Given the description of an element on the screen output the (x, y) to click on. 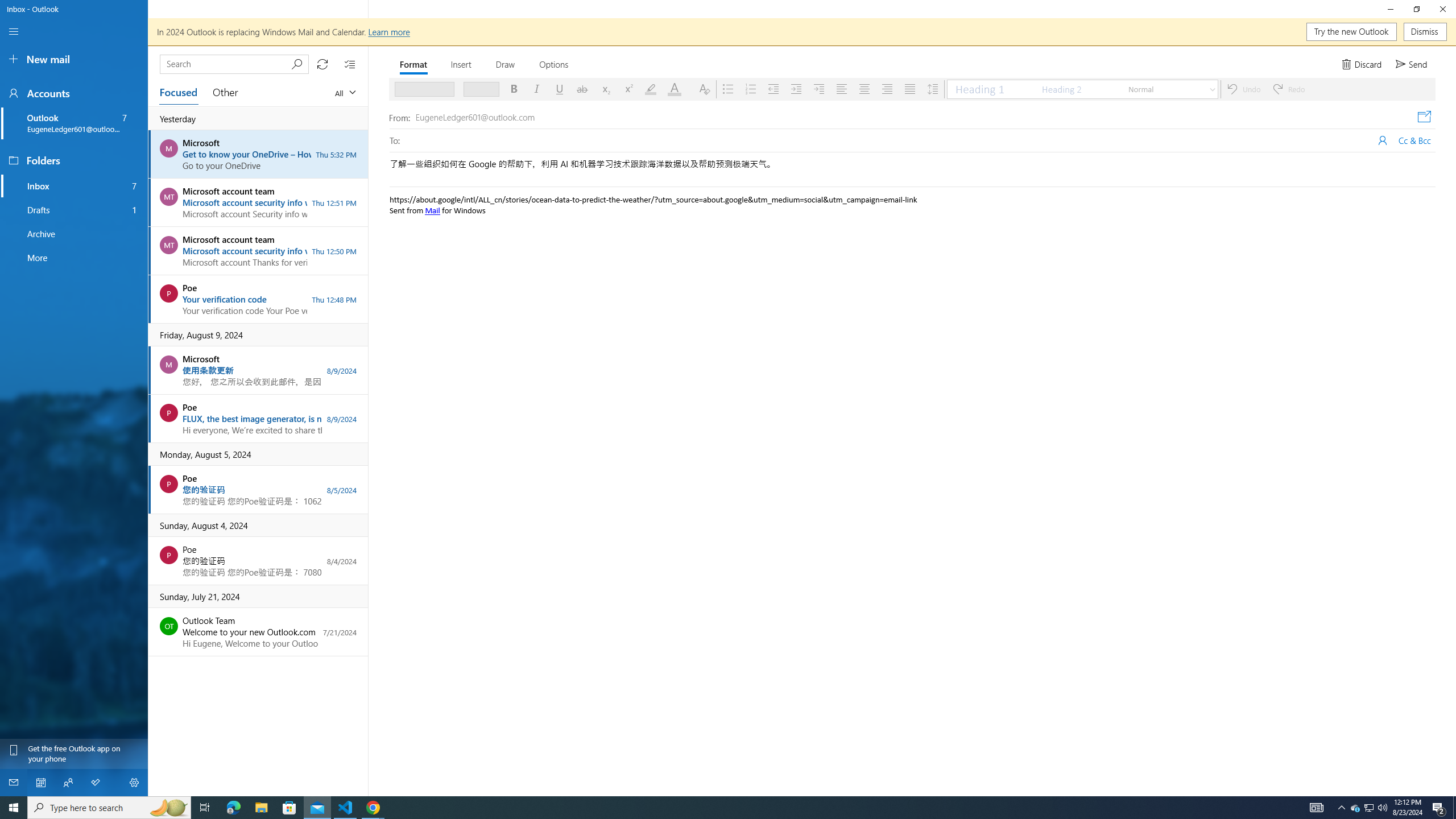
Special Indent (818, 88)
Normal (1164, 89)
Draw (505, 63)
To:  (888, 138)
Folders (74, 159)
Get the free Outlook app on your phone (74, 753)
Font (424, 88)
Mail (432, 210)
Heading 1 (990, 89)
Align Right (887, 88)
Discard (1363, 63)
Options (553, 63)
Navigation (13, 31)
